Given the description of an element on the screen output the (x, y) to click on. 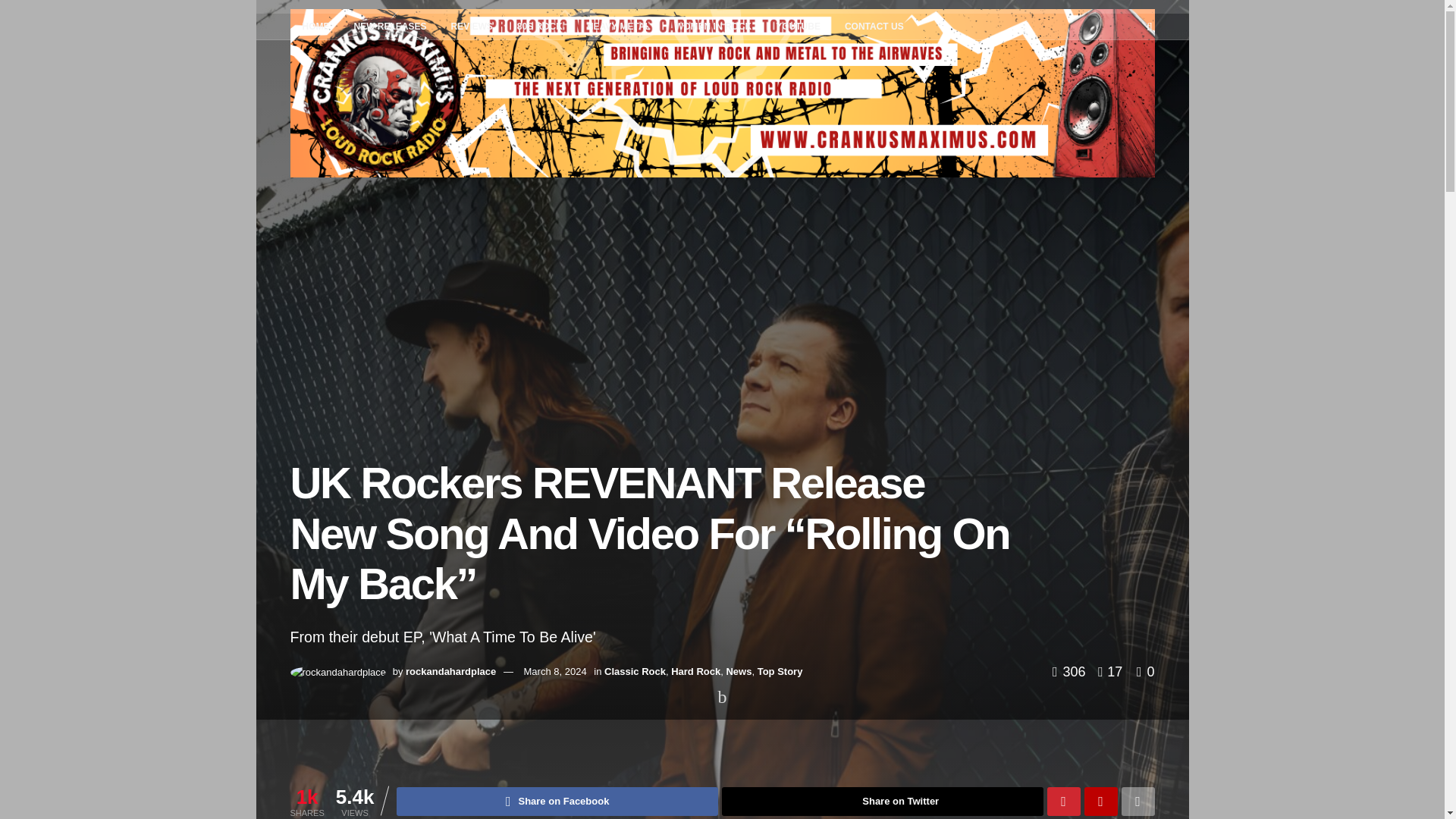
Share on Facebook (556, 801)
Classic Rock (634, 671)
rockandahardplace (451, 671)
News (738, 671)
Hard Rock (695, 671)
WOMEN IN ROCK (712, 26)
Top Story (780, 671)
NEW RELEASES (389, 26)
HOME (314, 26)
REVIEWS (472, 26)
Classic Rock (353, 733)
CONTACT US (873, 26)
March 8, 2024 (555, 671)
306 (1070, 671)
Home (301, 733)
